Given the description of an element on the screen output the (x, y) to click on. 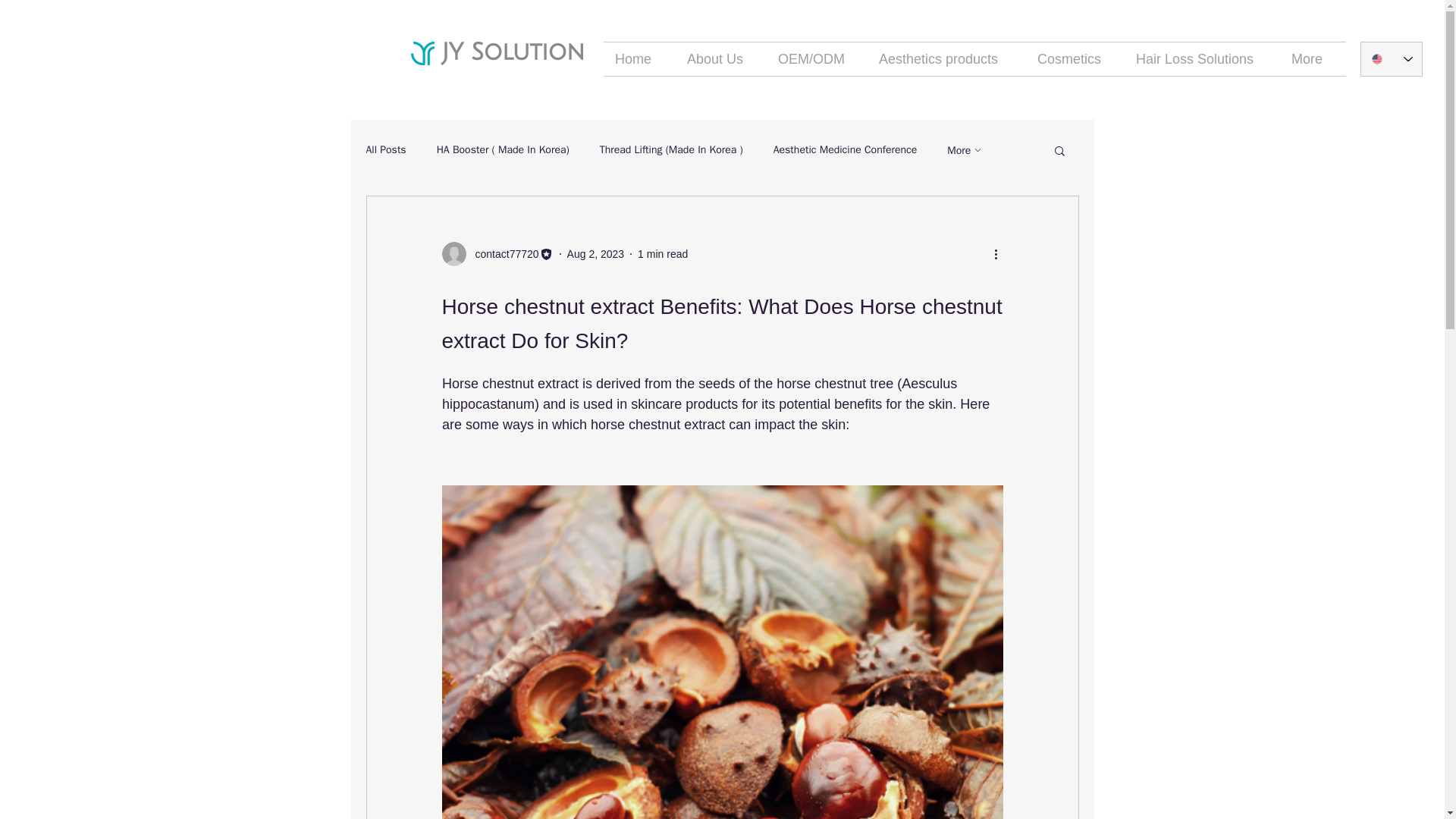
Home (639, 59)
contact77720 (501, 253)
Aug 2, 2023 (595, 253)
About Us (721, 59)
Cosmetics (1075, 59)
contact77720 (497, 253)
1 min read (662, 253)
Aesthetics products (946, 59)
Hair Loss Solutions (1201, 59)
All Posts (385, 150)
